Given the description of an element on the screen output the (x, y) to click on. 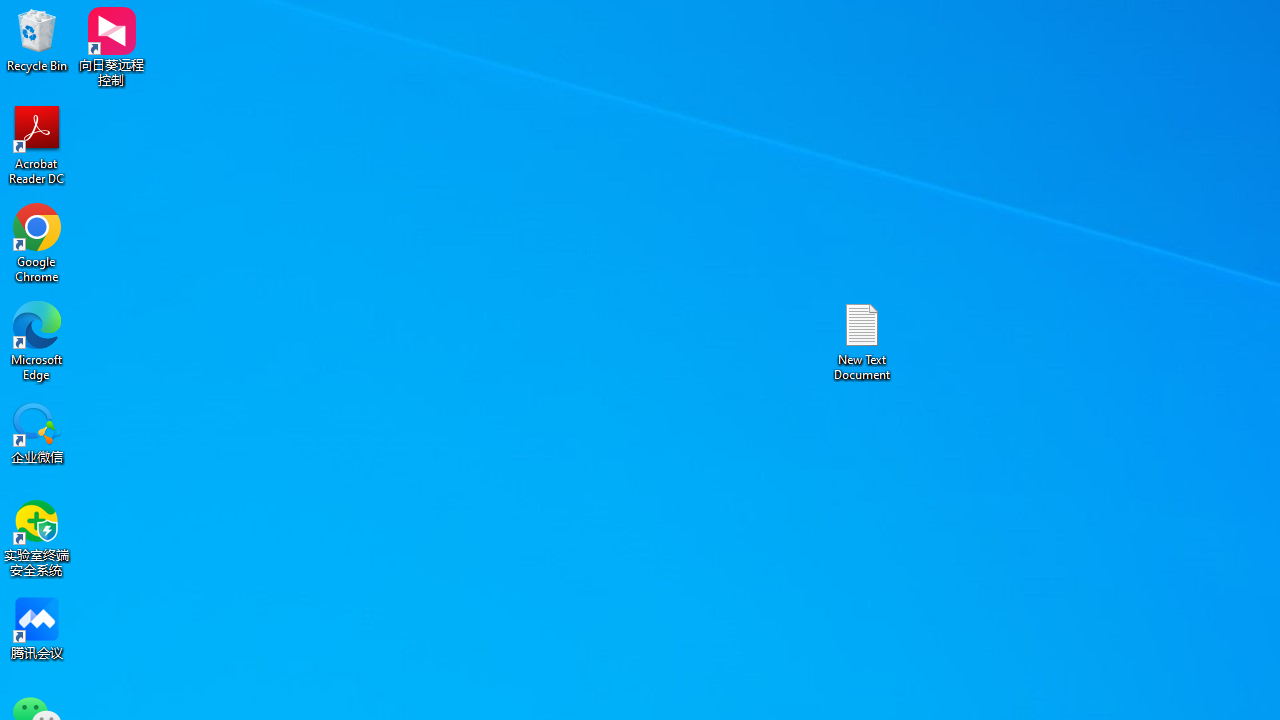
Acrobat Reader DC (37, 144)
Microsoft Edge (37, 340)
Google Chrome (37, 242)
New Text Document (861, 340)
Recycle Bin (37, 39)
